Given the description of an element on the screen output the (x, y) to click on. 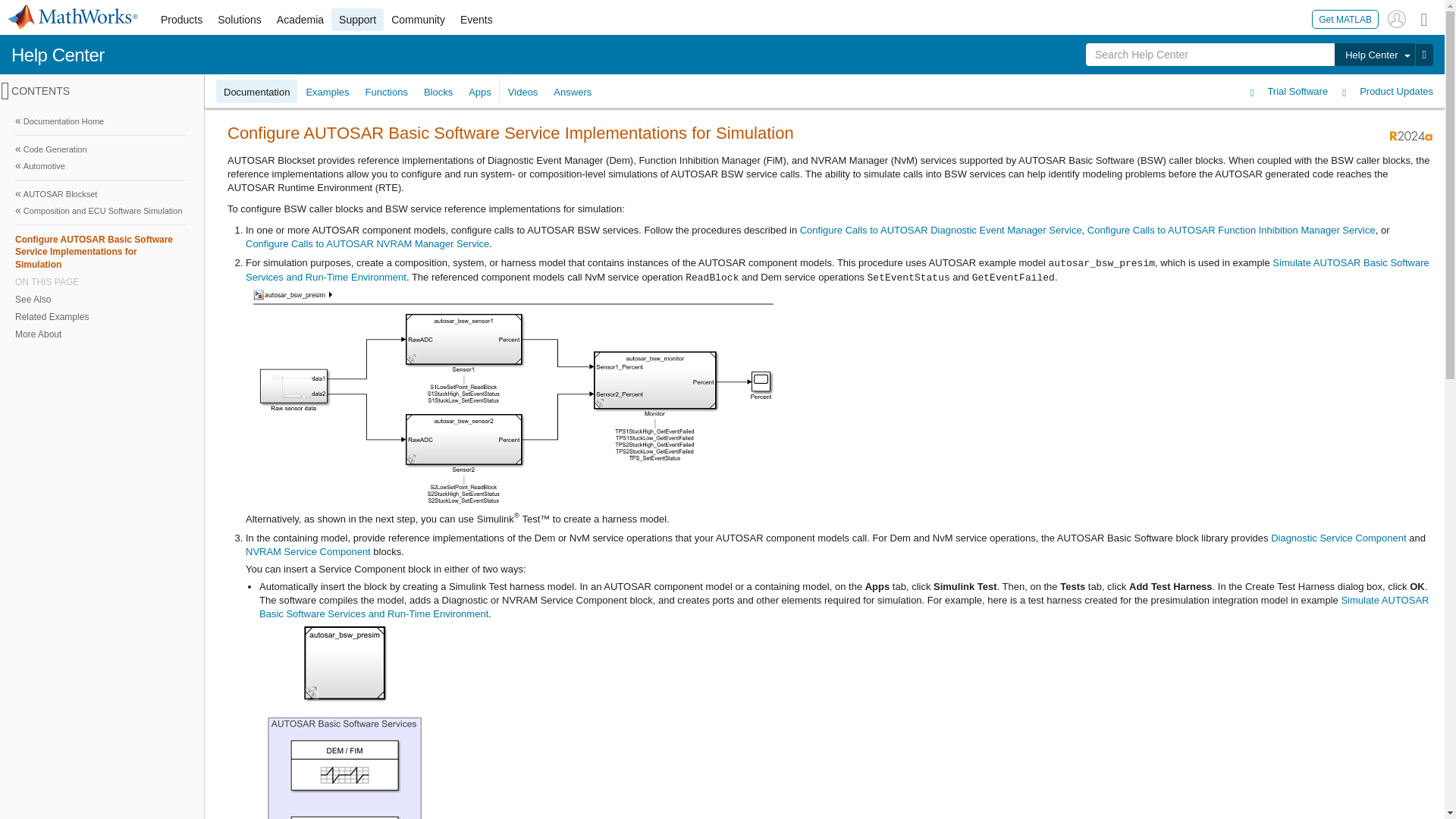
Events (476, 19)
Matrix Menu (1423, 18)
Community (418, 19)
Support (357, 19)
ON THIS PAGE (100, 282)
Products (180, 19)
Sign In to Your MathWorks Account (1396, 18)
Academia (300, 19)
Solutions (239, 19)
Get MATLAB (1344, 18)
